Given the description of an element on the screen output the (x, y) to click on. 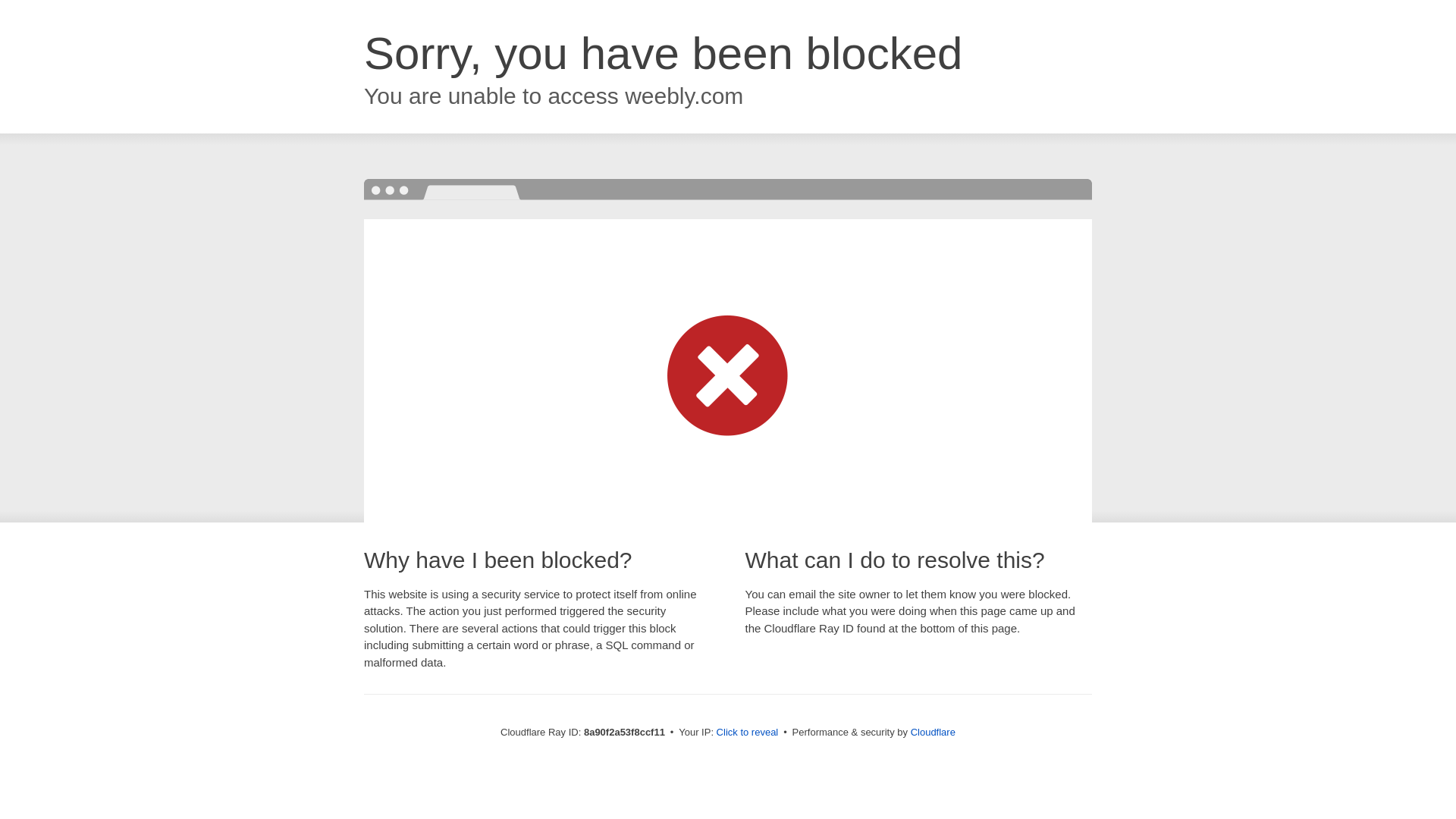
Click to reveal (747, 732)
Cloudflare (933, 731)
